Given the description of an element on the screen output the (x, y) to click on. 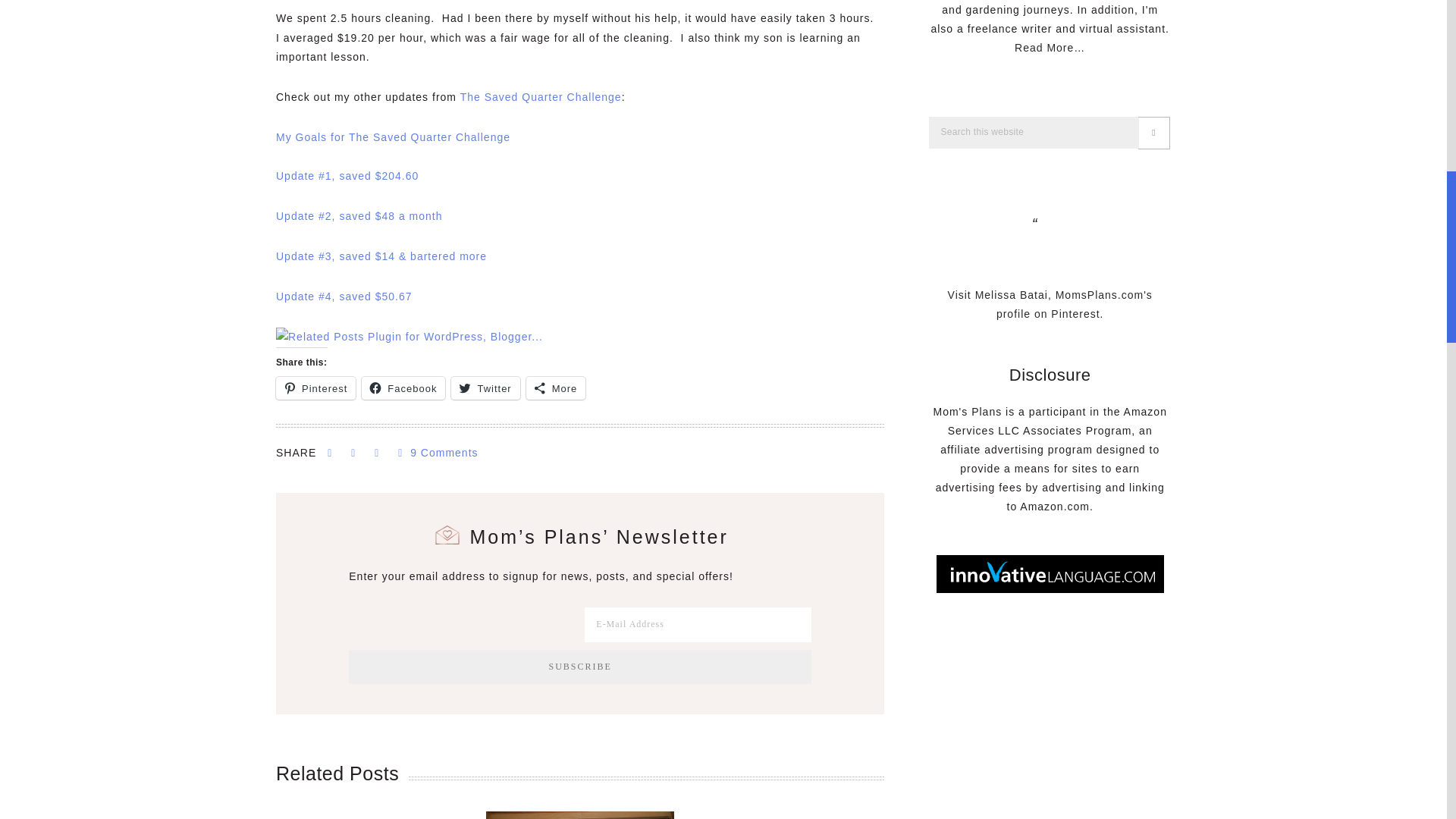
Click to share on Pinterest (315, 387)
Click to share on Twitter (485, 387)
Subscribe (579, 667)
Click to share on Facebook (403, 387)
